Given the description of an element on the screen output the (x, y) to click on. 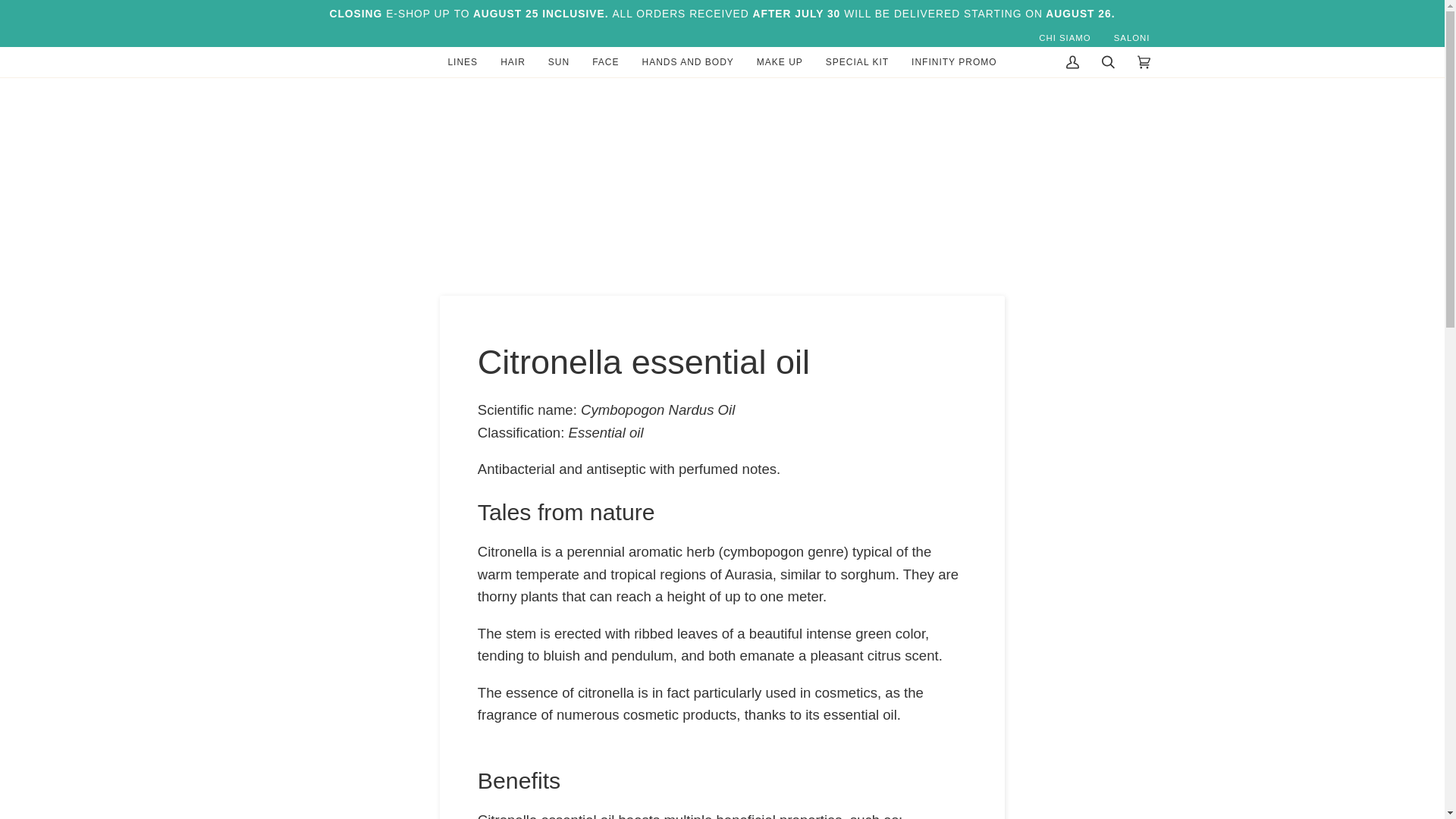
CHI SIAMO (1064, 37)
LINES (462, 61)
SALONI (1131, 37)
